Given the description of an element on the screen output the (x, y) to click on. 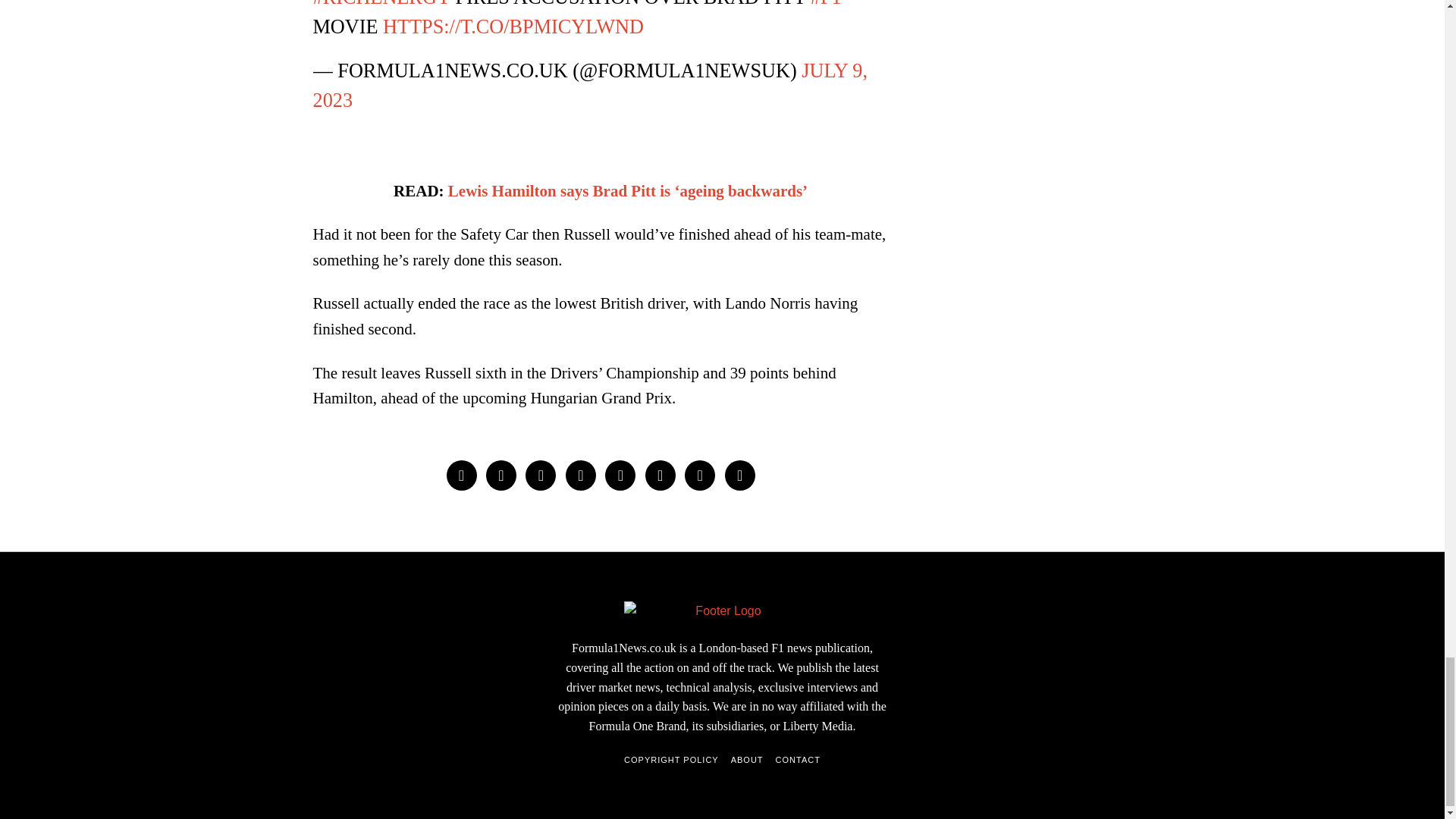
ABOUT (746, 759)
Messenger (501, 475)
Linkedin (619, 475)
CONTACT (798, 759)
COPYRIGHT POLICY (671, 759)
Reddit (699, 475)
Pinterest (580, 475)
Whatsapp (660, 475)
Facebook (460, 475)
Email (740, 475)
